Given the description of an element on the screen output the (x, y) to click on. 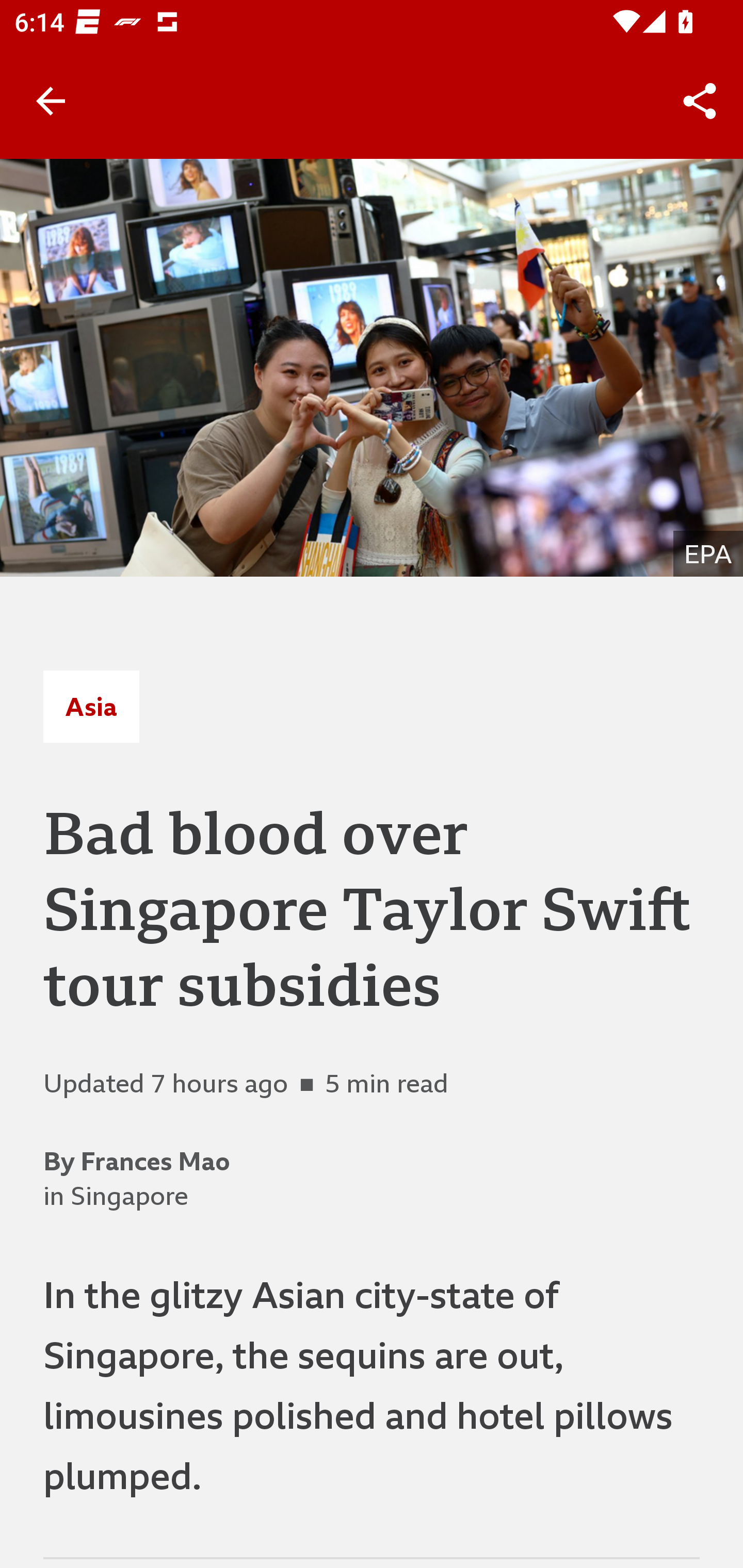
Back (50, 101)
Share (699, 101)
Asia (91, 706)
